Given the description of an element on the screen output the (x, y) to click on. 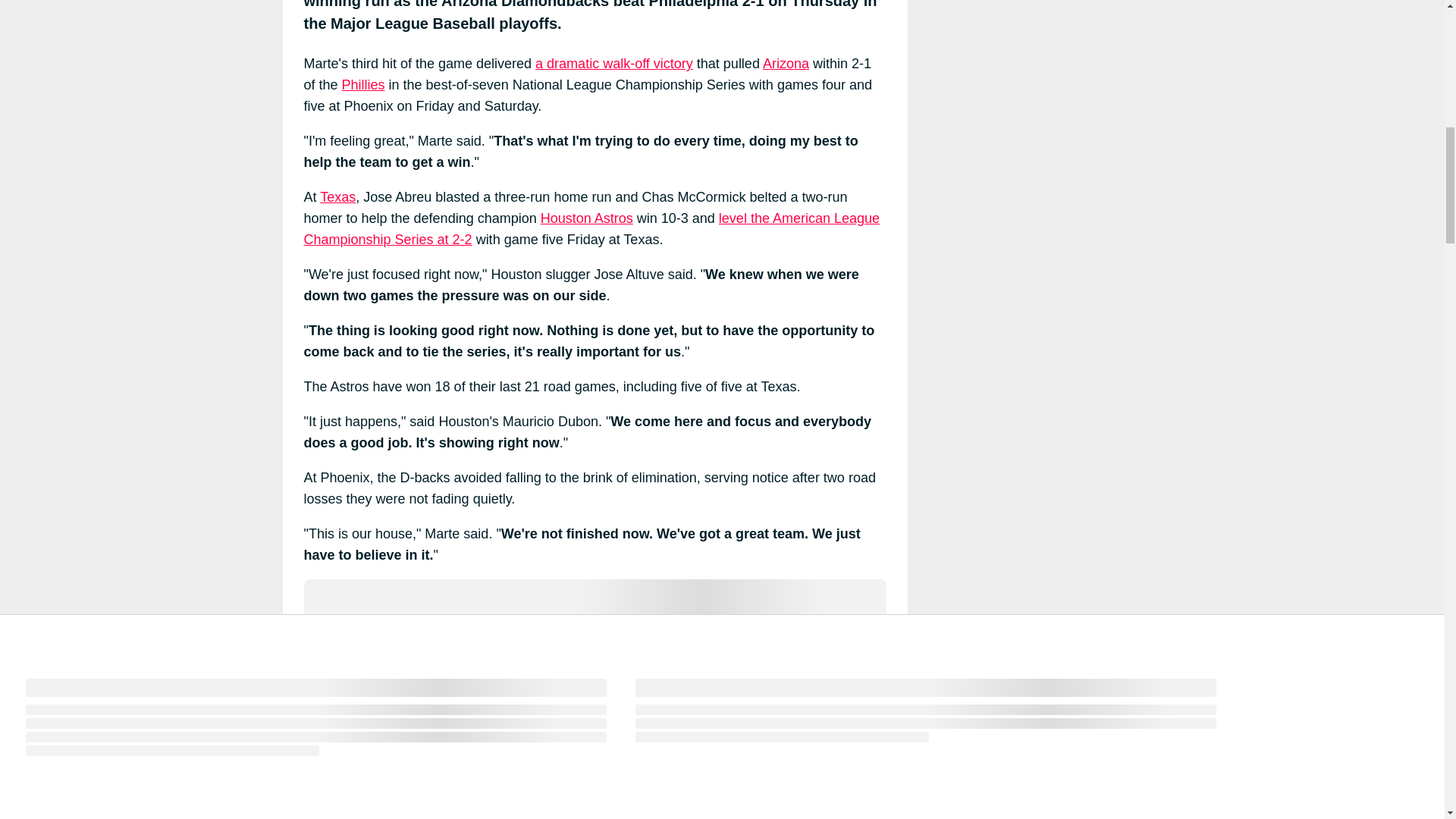
Phillies (363, 84)
a dramatic walk-off victory (614, 63)
Houston Astros (586, 218)
Texas (337, 196)
Arizona (785, 63)
level the American League Championship Series at 2-2 (590, 228)
